Given the description of an element on the screen output the (x, y) to click on. 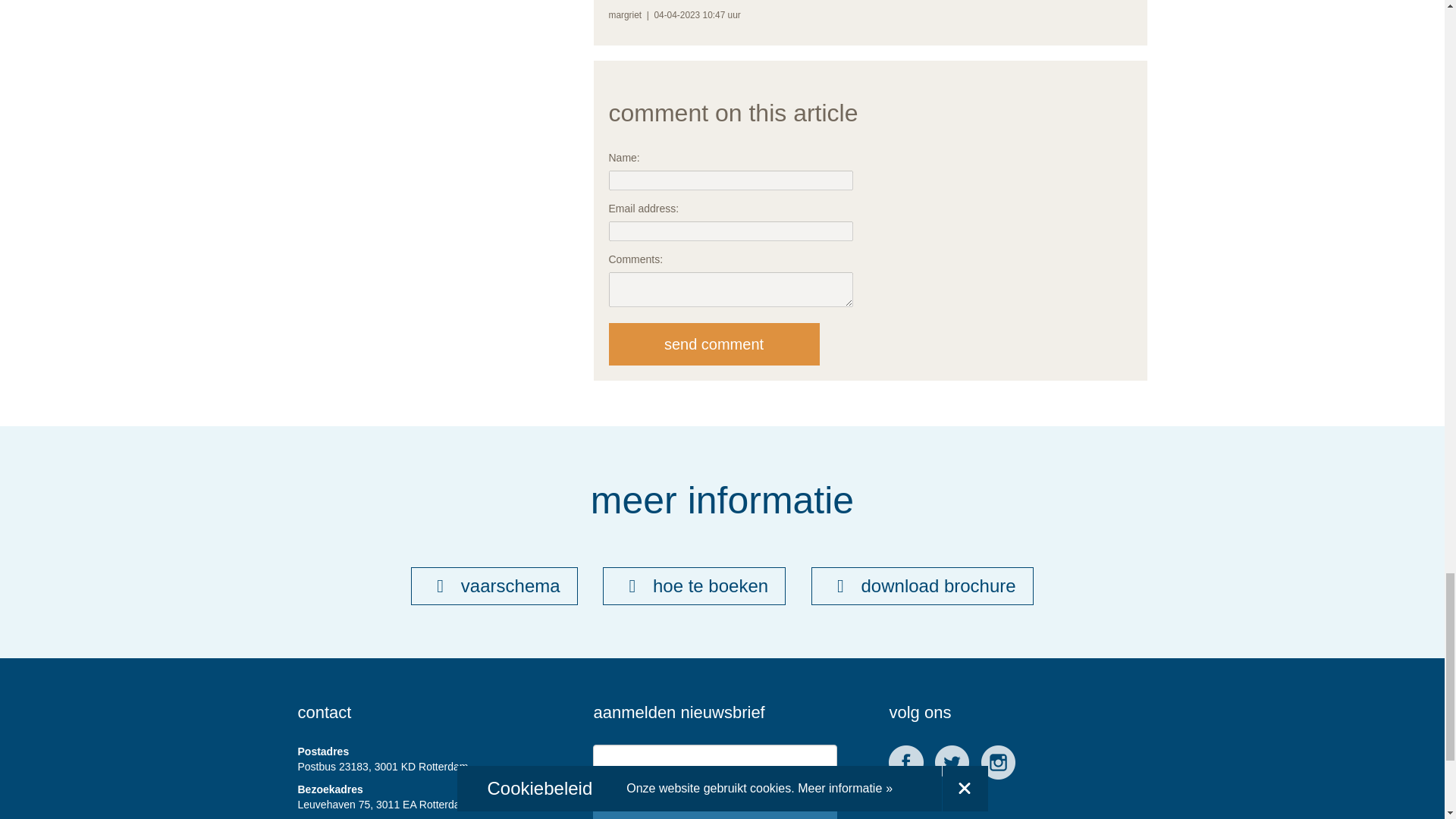
Nederlands (597, 790)
English (677, 790)
